Given the description of an element on the screen output the (x, y) to click on. 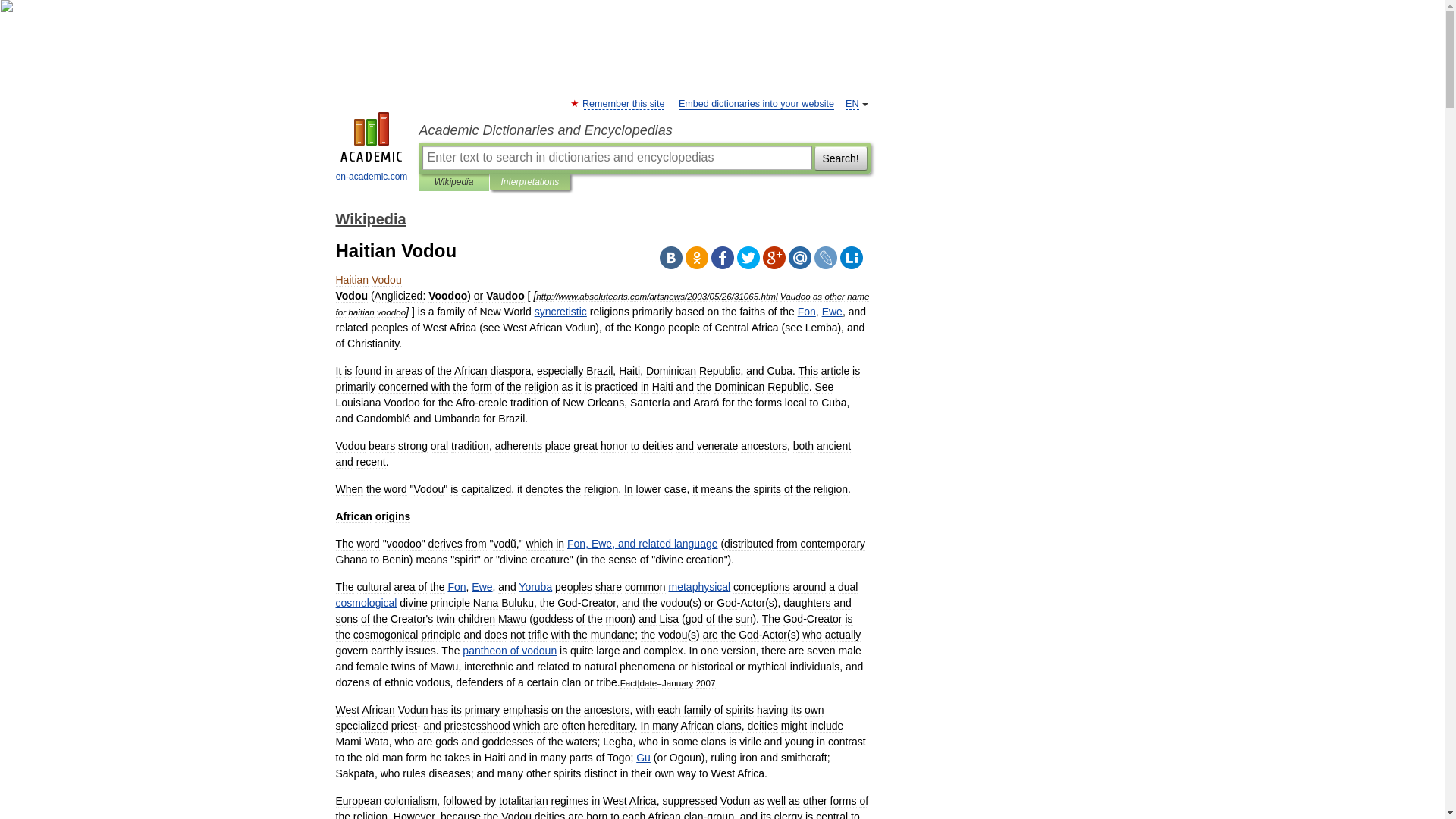
Remember this site (623, 103)
syncretistic (560, 311)
Embed dictionaries into your website (756, 103)
Fon (806, 311)
Yoruba (534, 586)
Ewe (481, 586)
Fon (455, 586)
cosmological (365, 603)
Fon, Ewe, and related language (642, 543)
Gu (643, 757)
en-academic.com (371, 148)
Ewe (832, 311)
Interpretations (529, 181)
pantheon of vodoun (509, 650)
Wikipedia (453, 181)
